Given the description of an element on the screen output the (x, y) to click on. 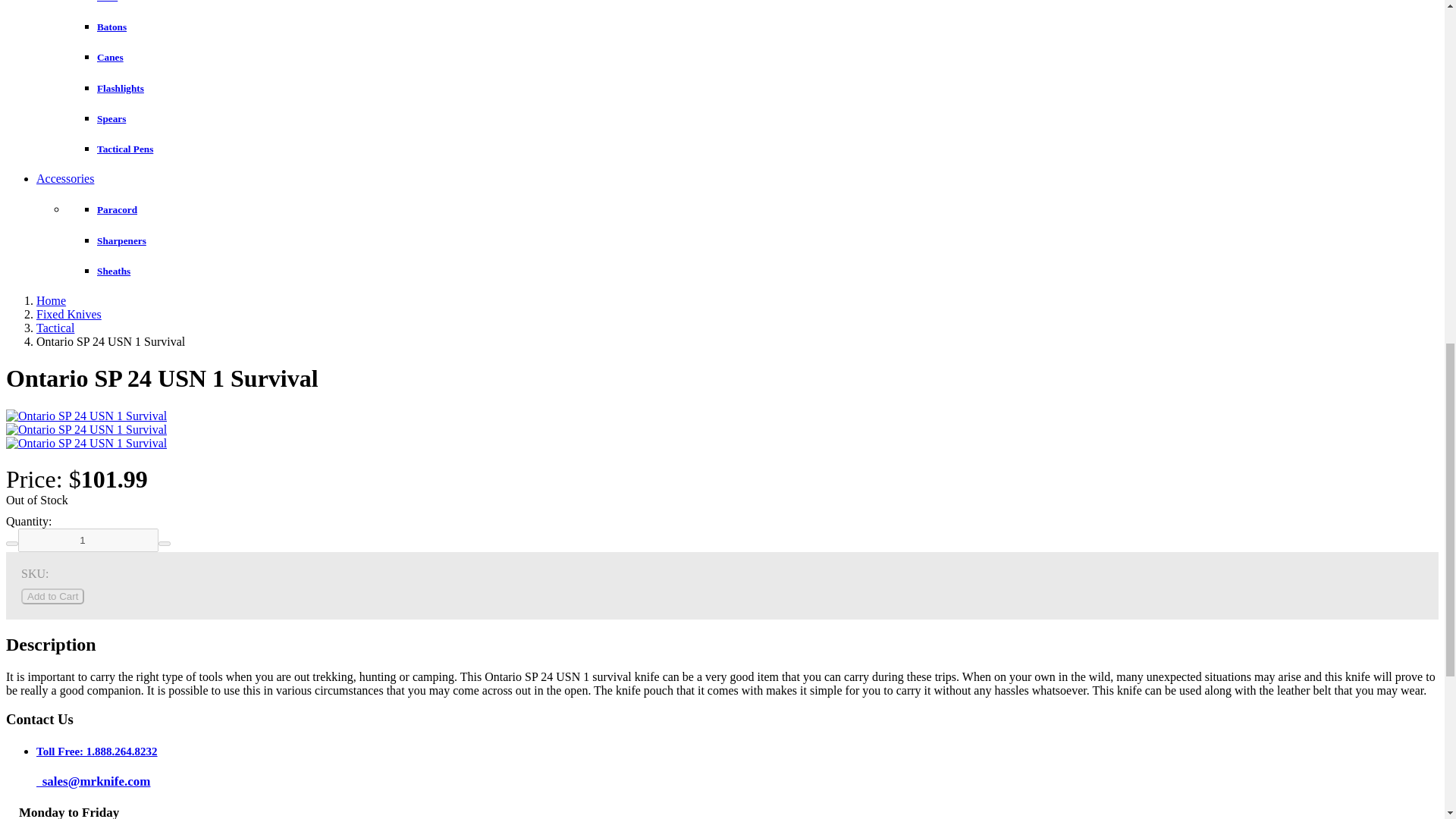
Canes (110, 57)
Flashlights (120, 88)
Tactical Pens (124, 148)
Home (50, 300)
1 (87, 540)
Ontario SP 24 USN 1 Survival (86, 442)
Fixed Knives (68, 314)
Accessories (65, 178)
Axes (107, 1)
Ontario SP 24 USN 1 Survival (86, 429)
Batons (111, 26)
Spears (111, 118)
Sheaths (114, 270)
Sharpeners (122, 240)
Paracord (116, 209)
